Given the description of an element on the screen output the (x, y) to click on. 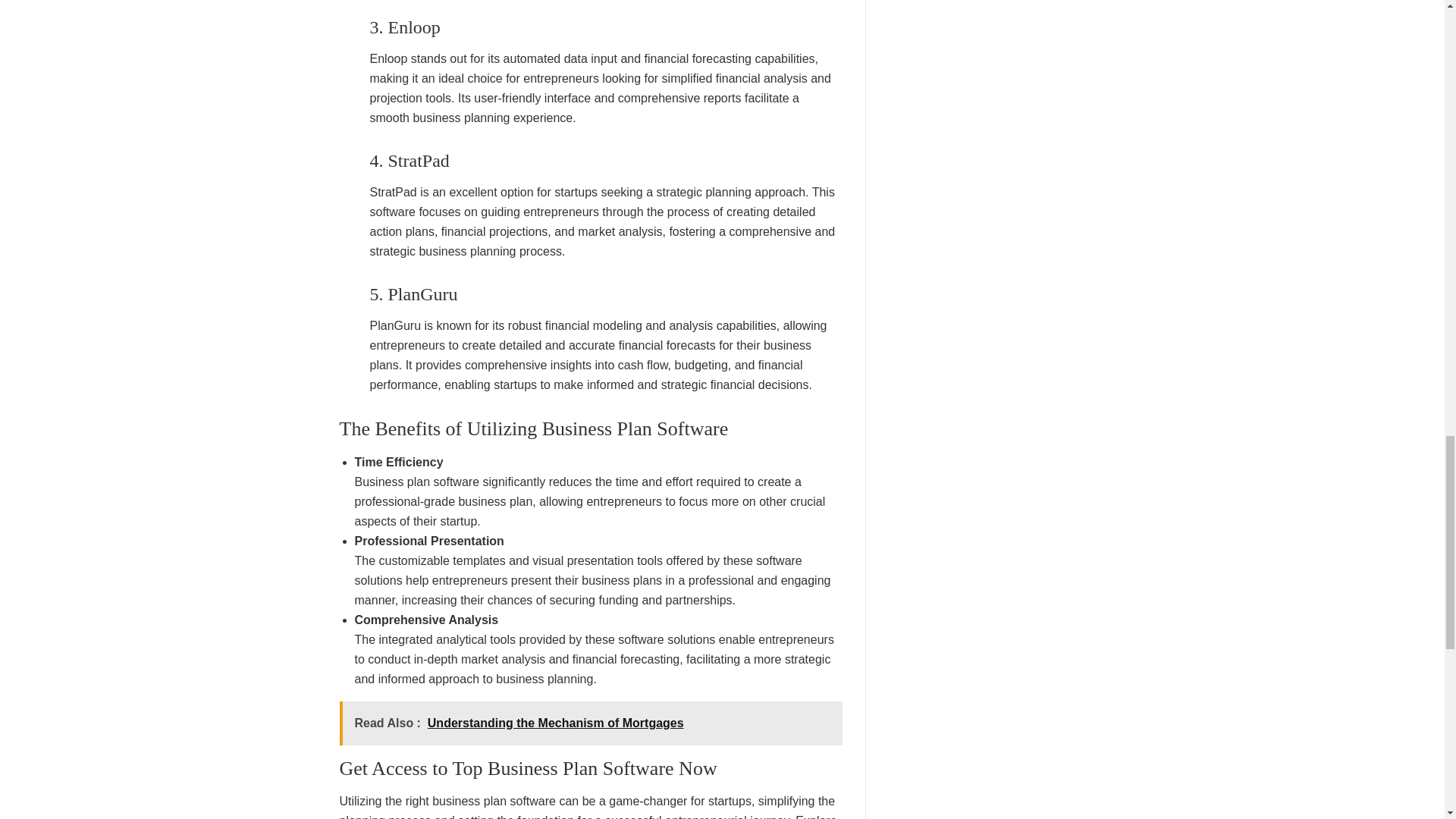
Read Also :  Understanding the Mechanism of Mortgages (591, 723)
